Given the description of an element on the screen output the (x, y) to click on. 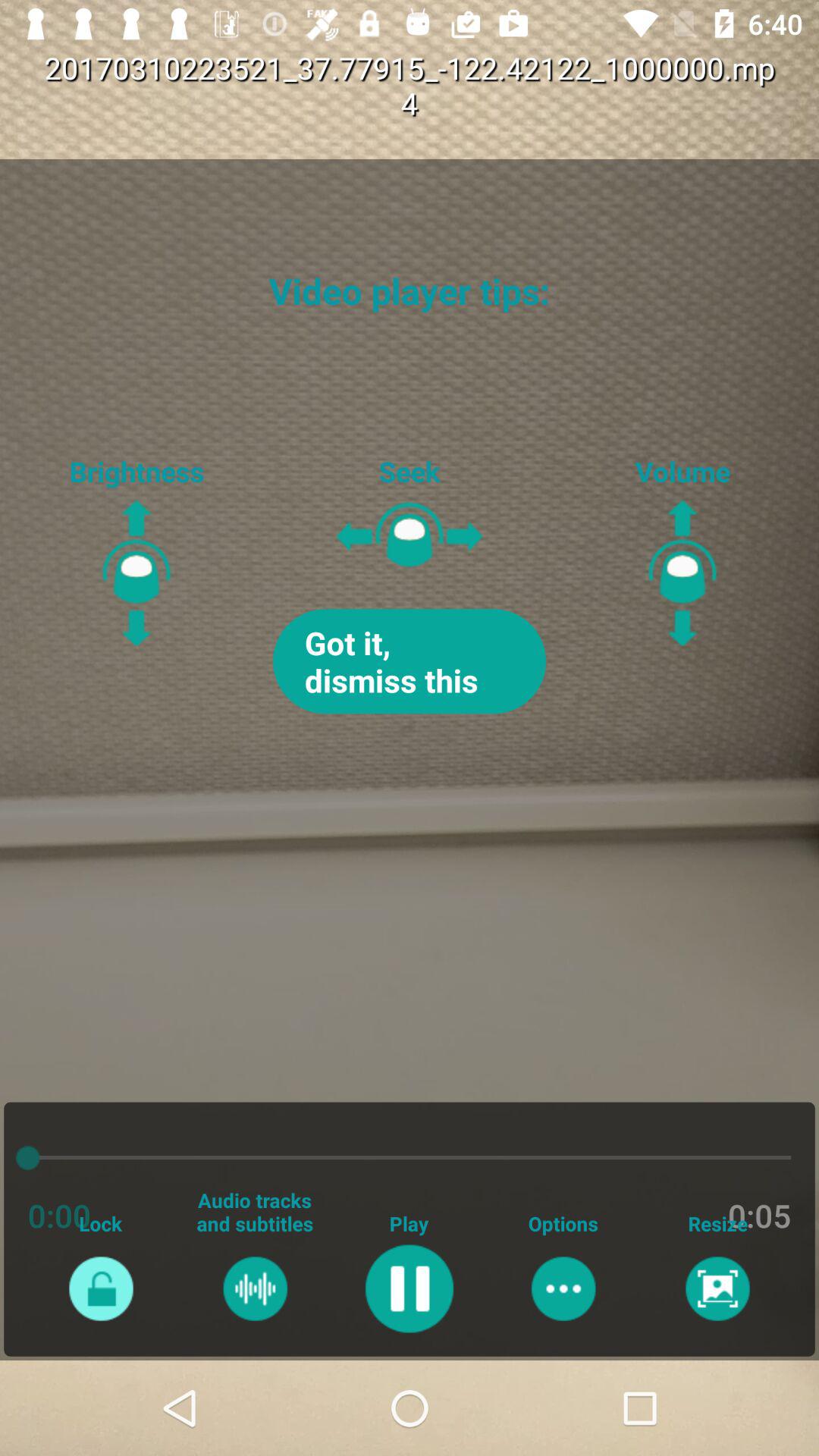
lock option (100, 1288)
